Given the description of an element on the screen output the (x, y) to click on. 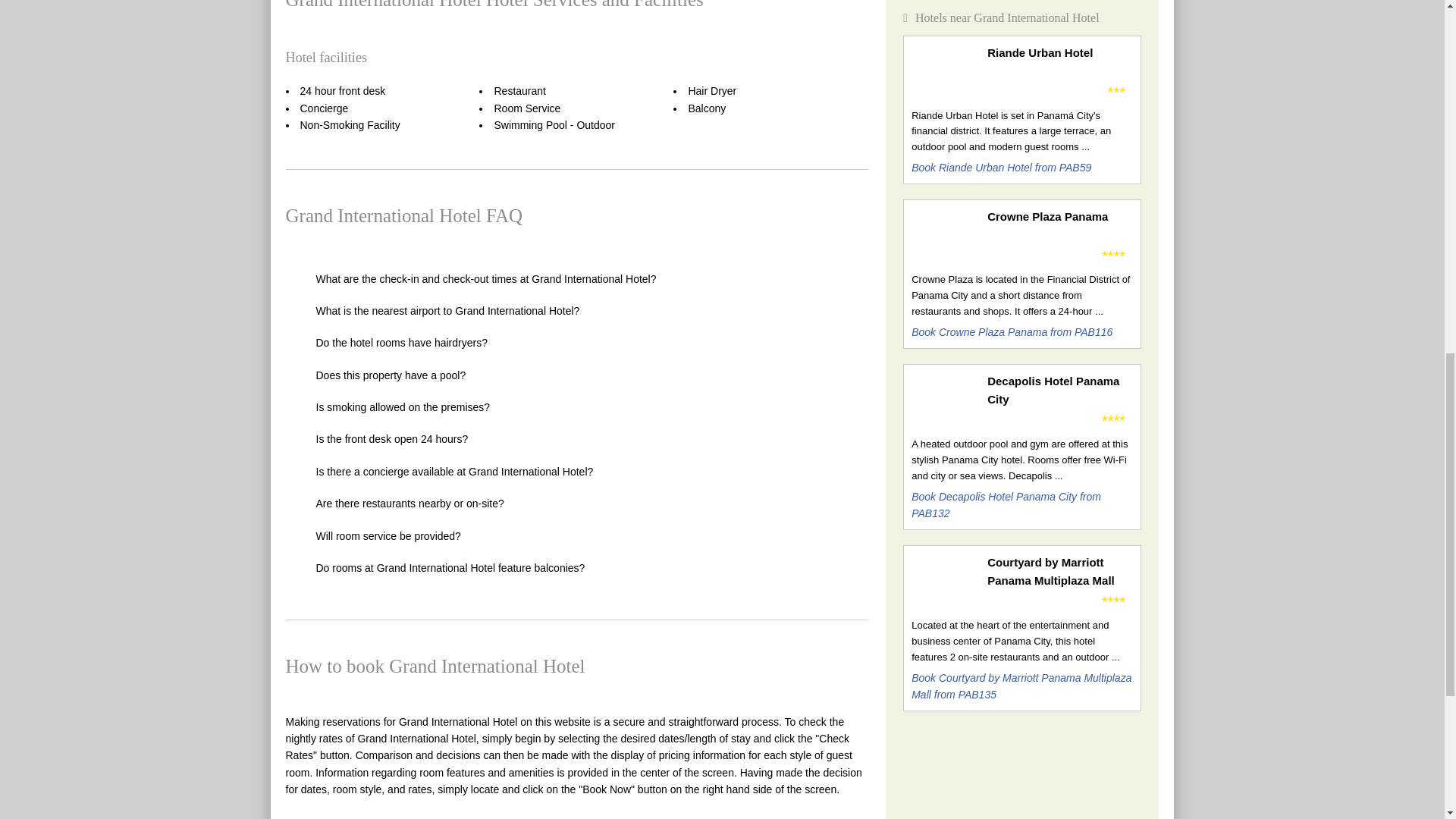
Book Riande Urban Hotel from PAB59 (1000, 167)
Crowne Plaza Panama (1059, 217)
Decapolis Hotel Panama City (1059, 390)
Book Decapolis Hotel Panama City from PAB132 (1005, 504)
Book Crowne Plaza Panama from PAB116 (1011, 331)
Courtyard by Marriott Panama Multiplaza Mall (1059, 571)
Riande Urban Hotel (1059, 53)
